Given the description of an element on the screen output the (x, y) to click on. 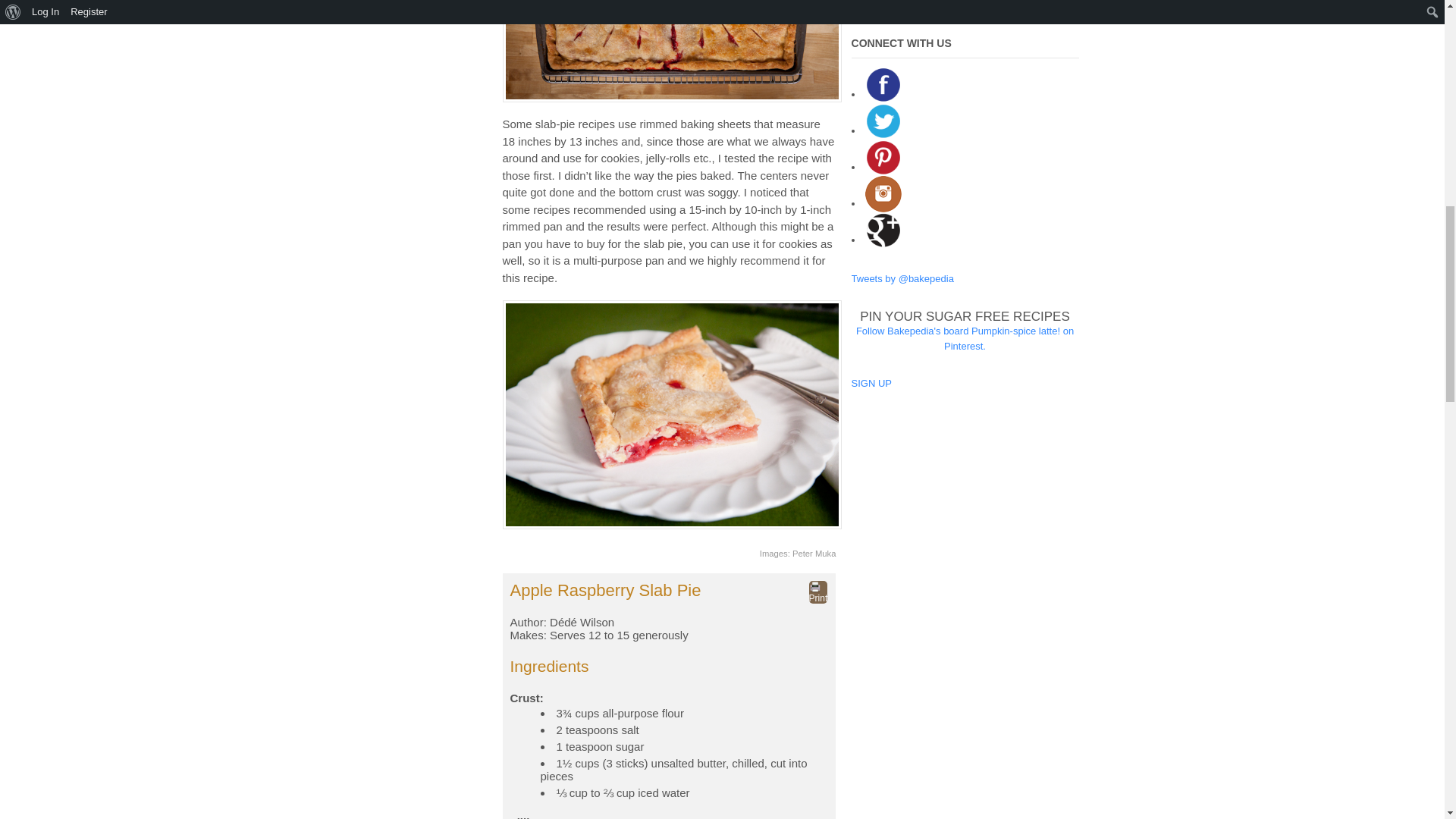
Follow Bakepedia's board Pumpkin-spice latte! on Pinterest. (965, 338)
apple raspberry slab pie top view (672, 51)
SIGN UP (871, 383)
